Given the description of an element on the screen output the (x, y) to click on. 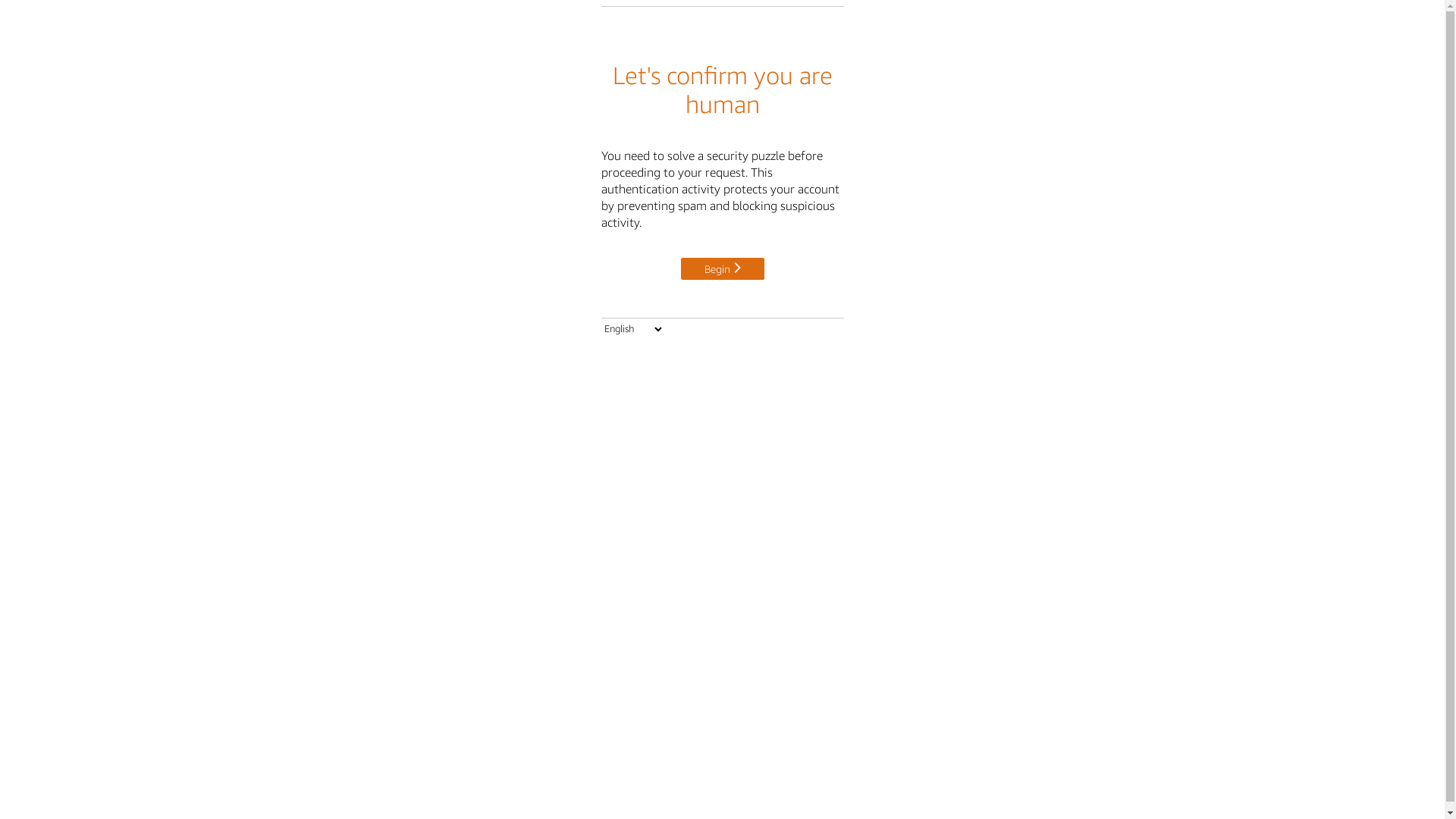
Begin Element type: text (722, 268)
